Given the description of an element on the screen output the (x, y) to click on. 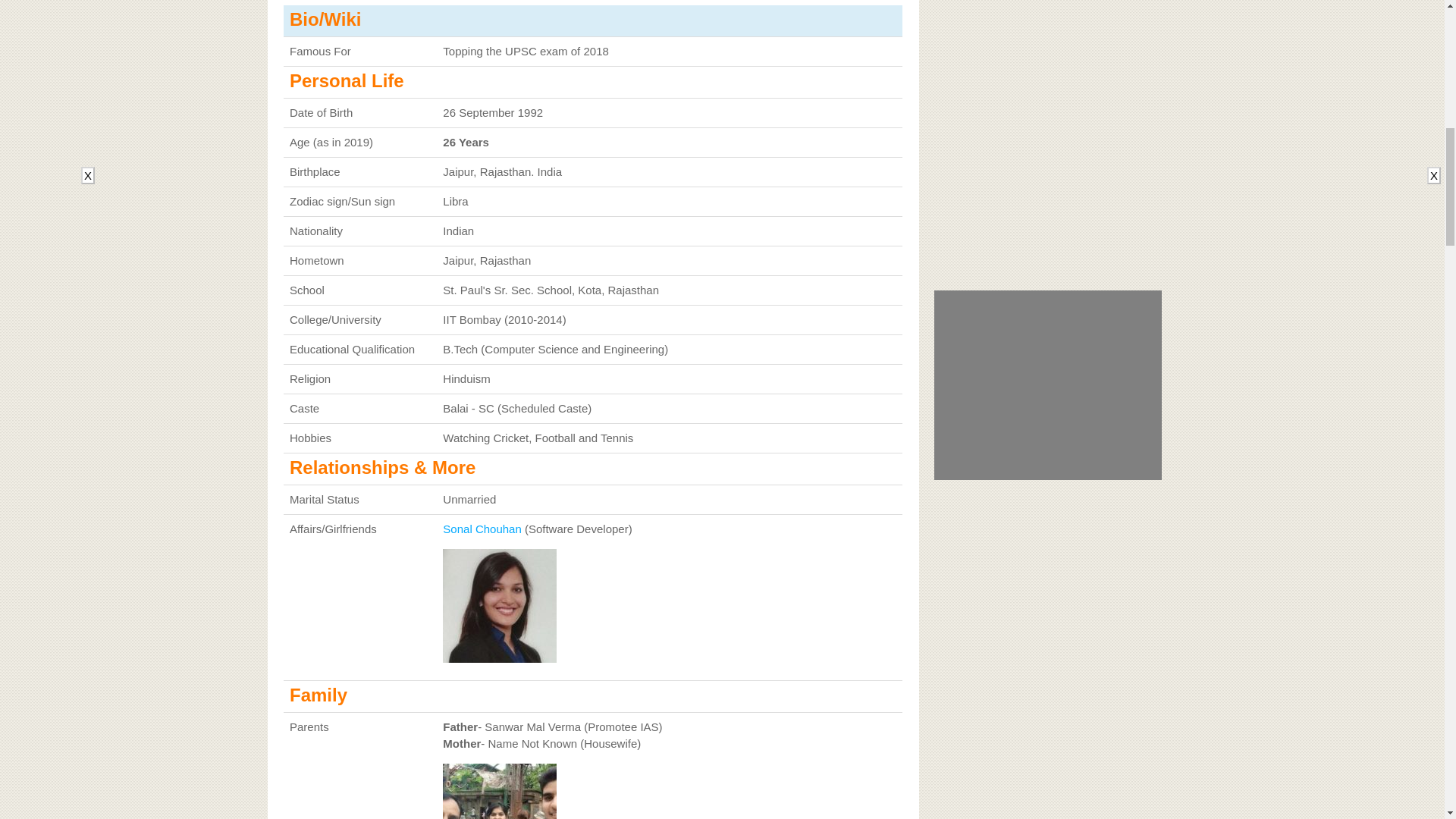
Sonal Chouhan (481, 528)
